Given the description of an element on the screen output the (x, y) to click on. 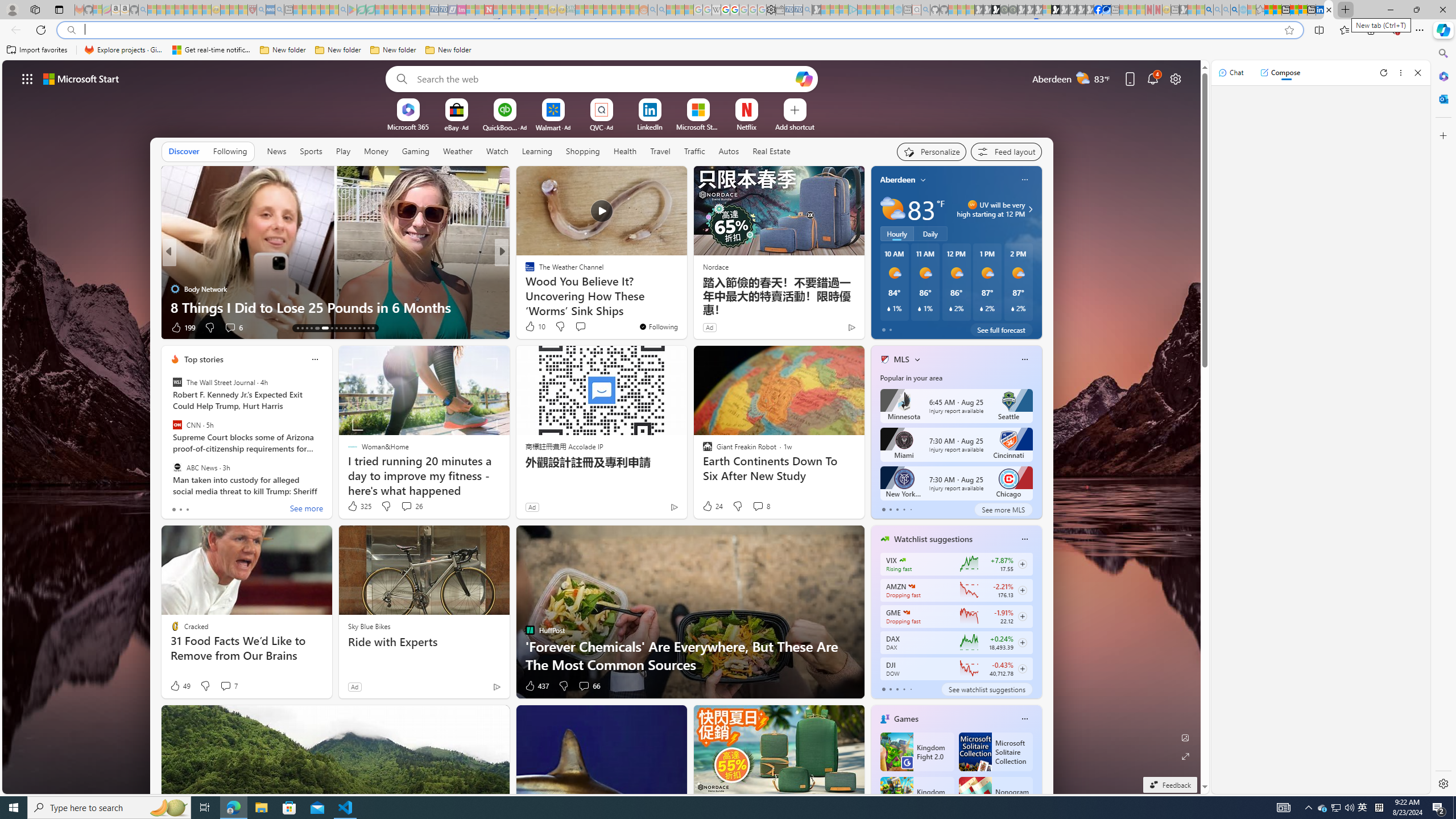
Class: icon-img (1024, 718)
Play (342, 151)
Search icon (70, 29)
AQI & Health | AirNow.gov (1106, 9)
AutomationID: tab-21 (340, 328)
